Given the description of an element on the screen output the (x, y) to click on. 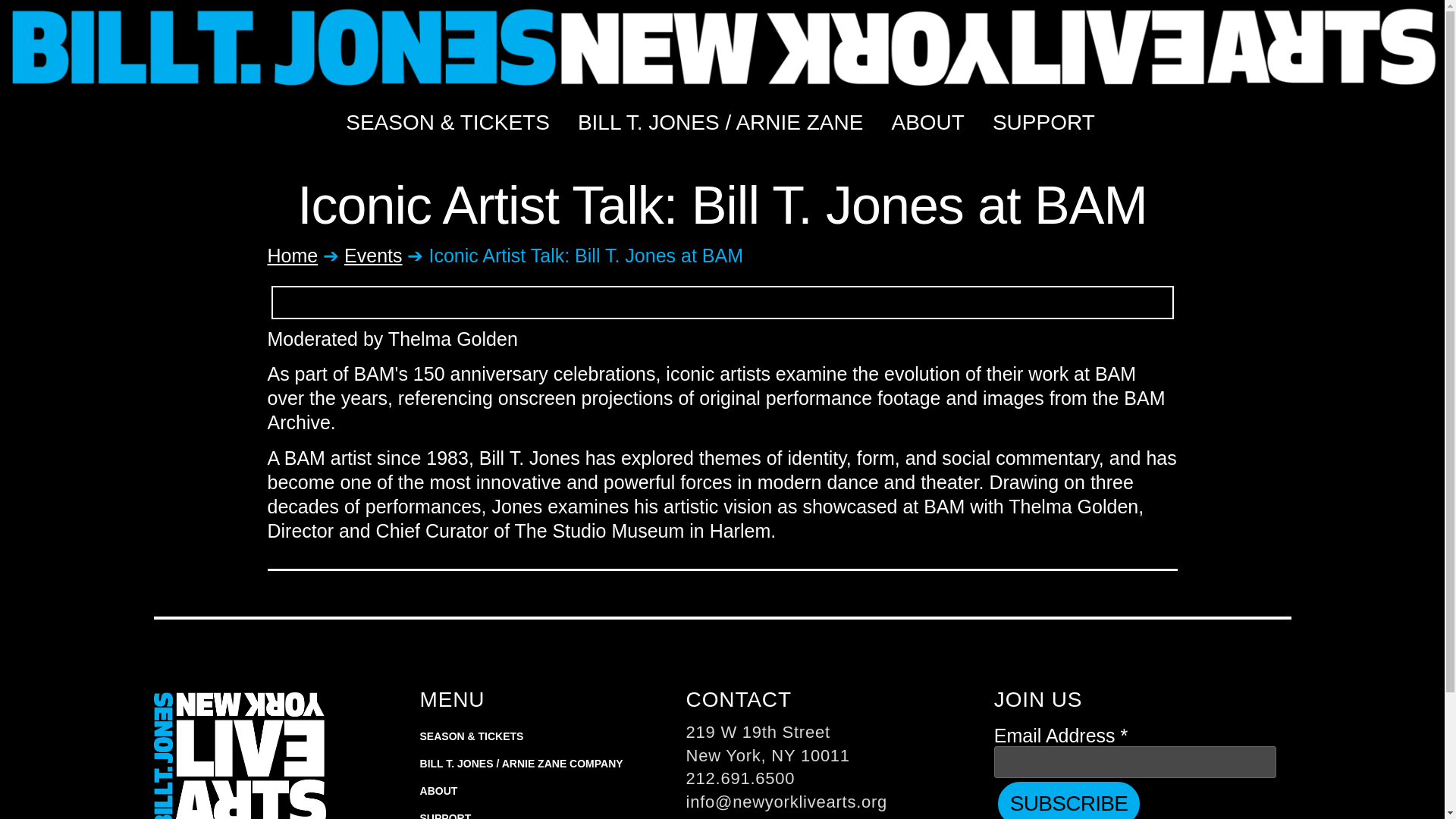
Subscribe (1068, 800)
